Given the description of an element on the screen output the (x, y) to click on. 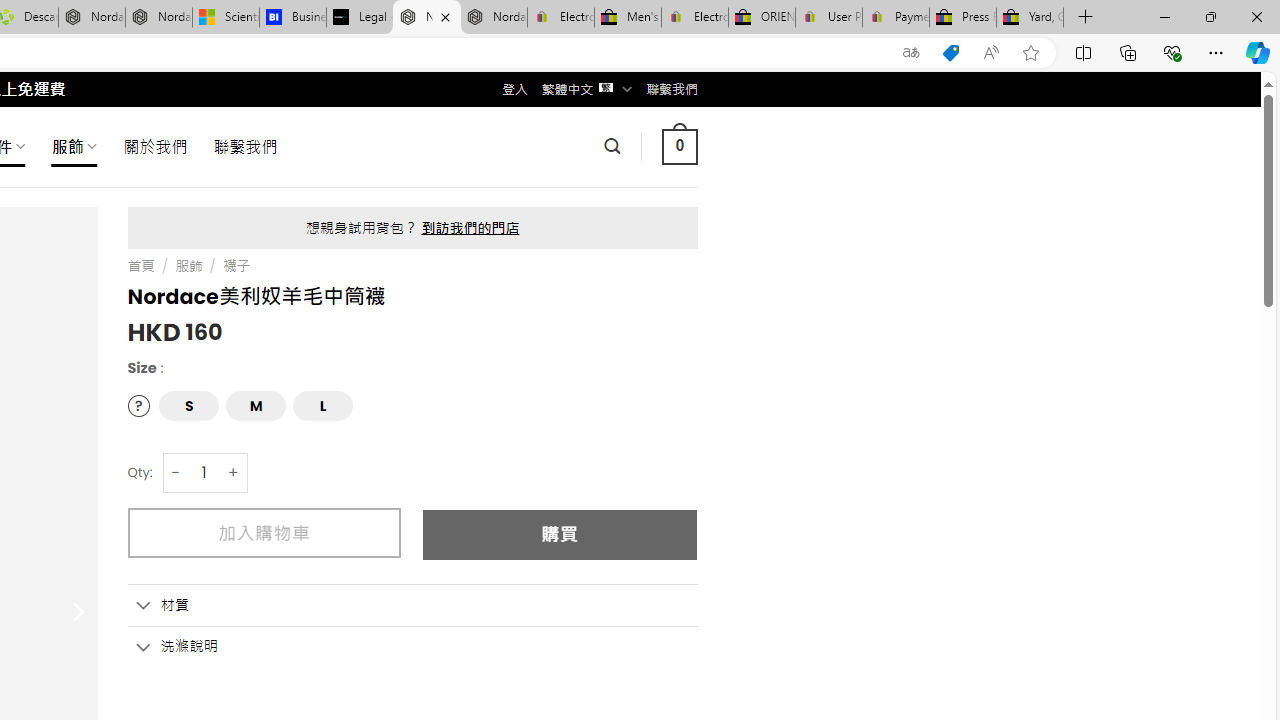
 0  (679, 146)
- (175, 472)
Press Room - eBay Inc. (962, 17)
Yard, Garden & Outdoor Living (1030, 17)
